Given the description of an element on the screen output the (x, y) to click on. 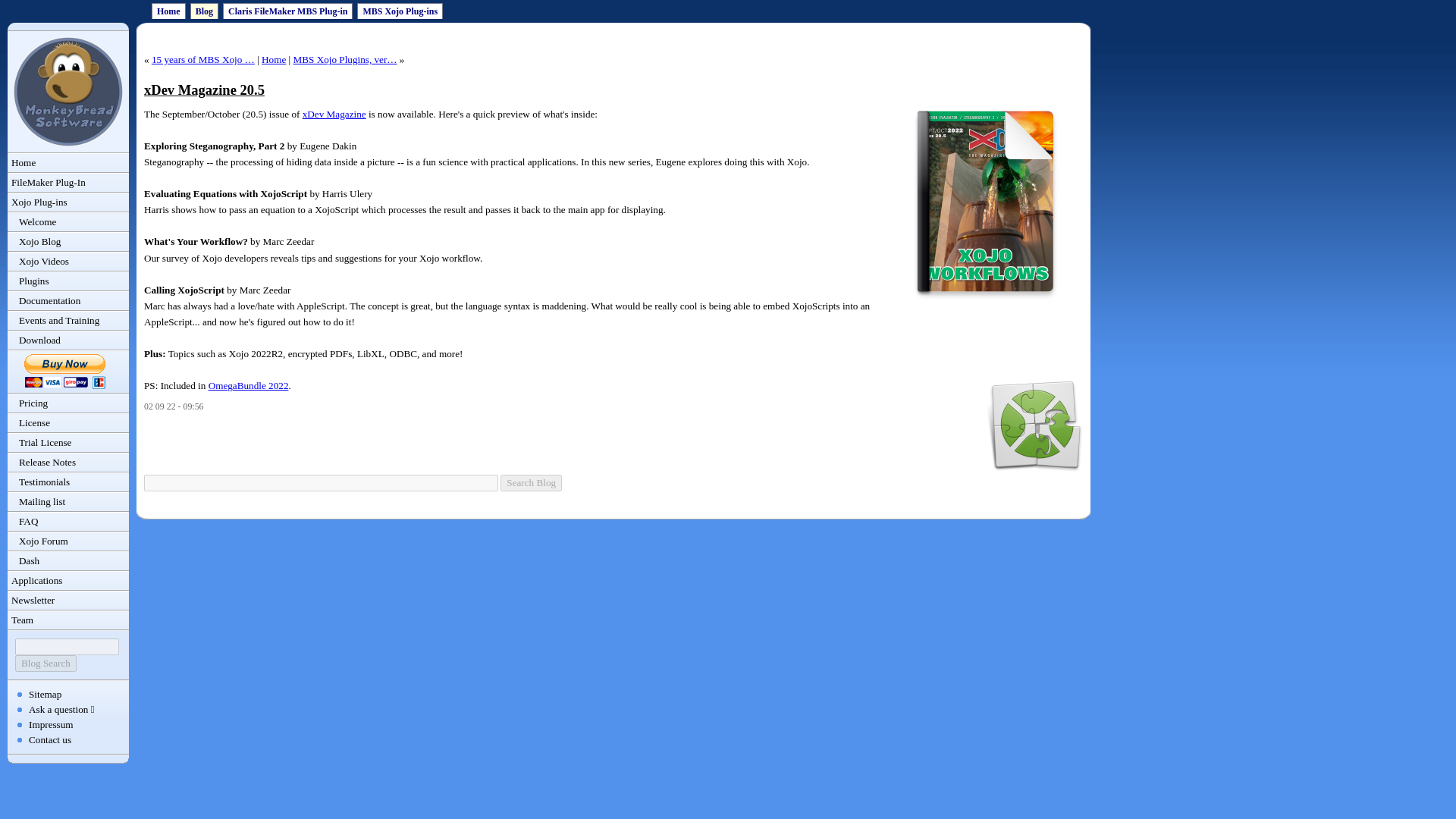
Sitemap (45, 694)
Pricing (68, 403)
Xojo Plug-ins (68, 202)
Home (168, 10)
Blog (204, 10)
FileMaker Plug-In (68, 182)
Mailing list (68, 501)
Dash (68, 560)
Home (68, 162)
Newsletter (68, 600)
